Given the description of an element on the screen output the (x, y) to click on. 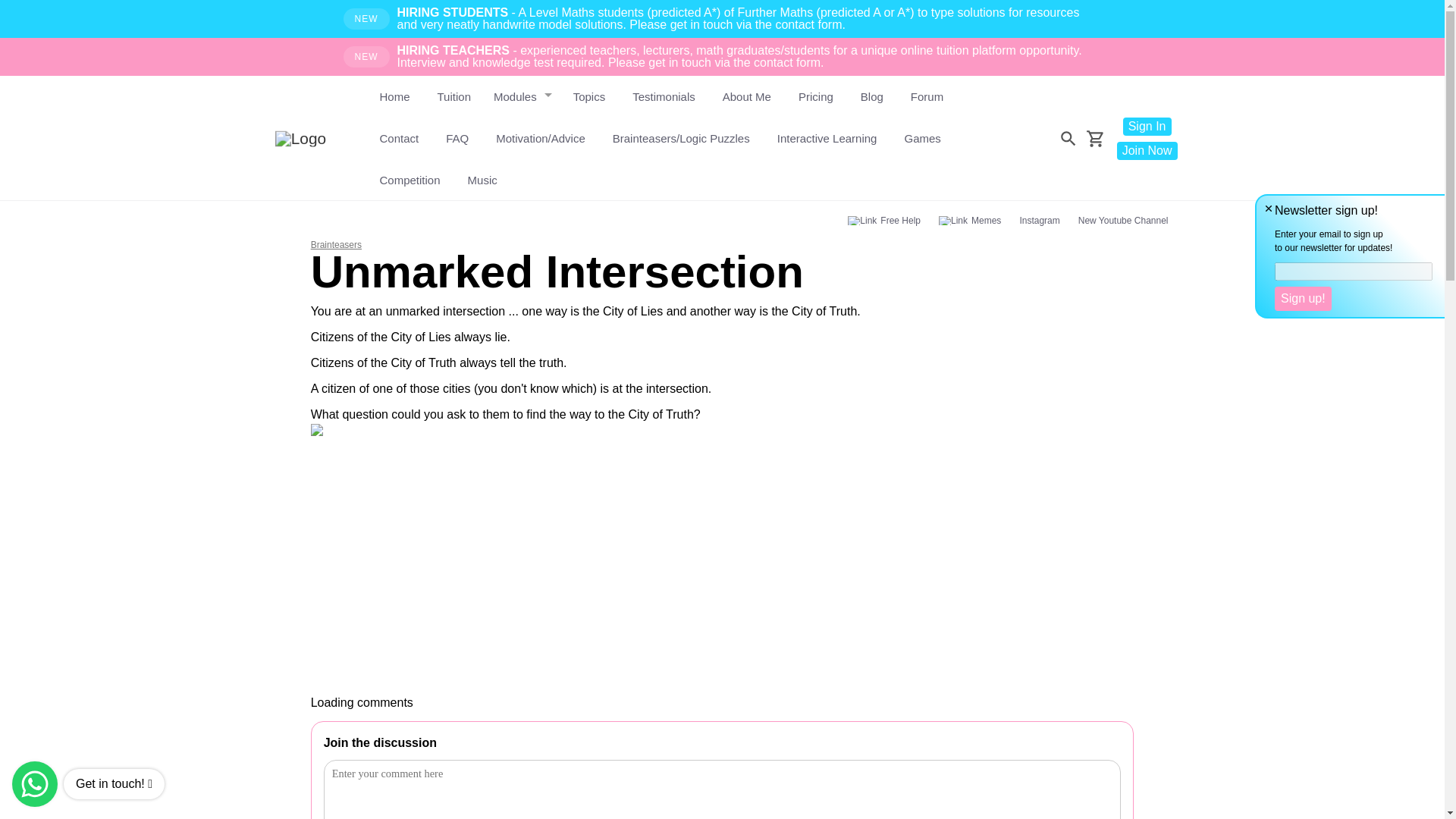
Free Help (884, 220)
Music (482, 179)
Sign In (1147, 126)
Forum (926, 96)
Blog (871, 96)
Contact (398, 137)
Modules (517, 96)
Interactive Learning (826, 137)
About Me (746, 96)
Tuition (453, 96)
Instagram (1039, 220)
Topics (589, 96)
Pricing (815, 96)
Join Now (1146, 149)
Games (921, 137)
